Given the description of an element on the screen output the (x, y) to click on. 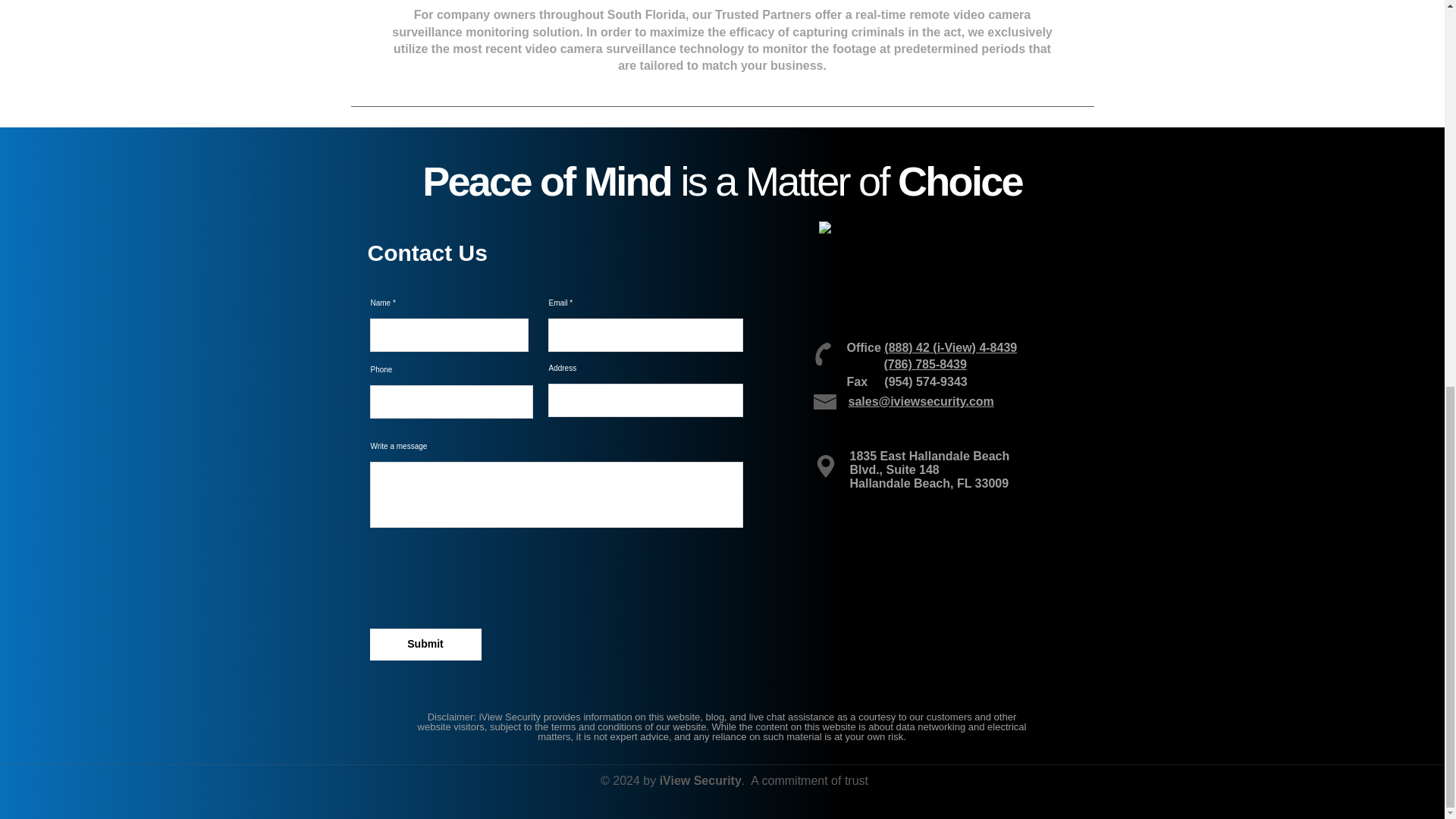
Submit (425, 644)
